Given the description of an element on the screen output the (x, y) to click on. 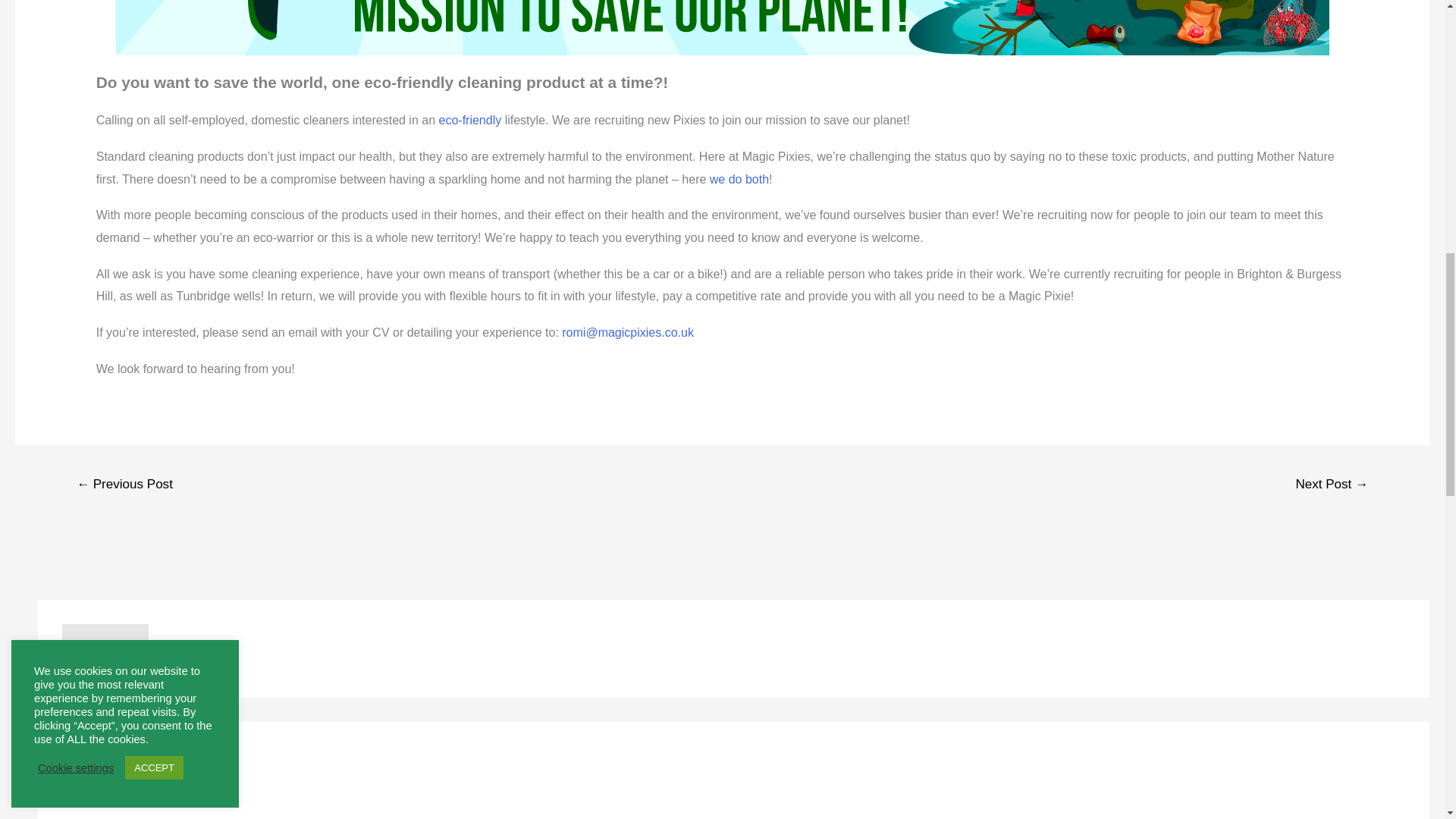
we do both (739, 178)
eco-friendly (470, 119)
Home (78, 799)
